Given the description of an element on the screen output the (x, y) to click on. 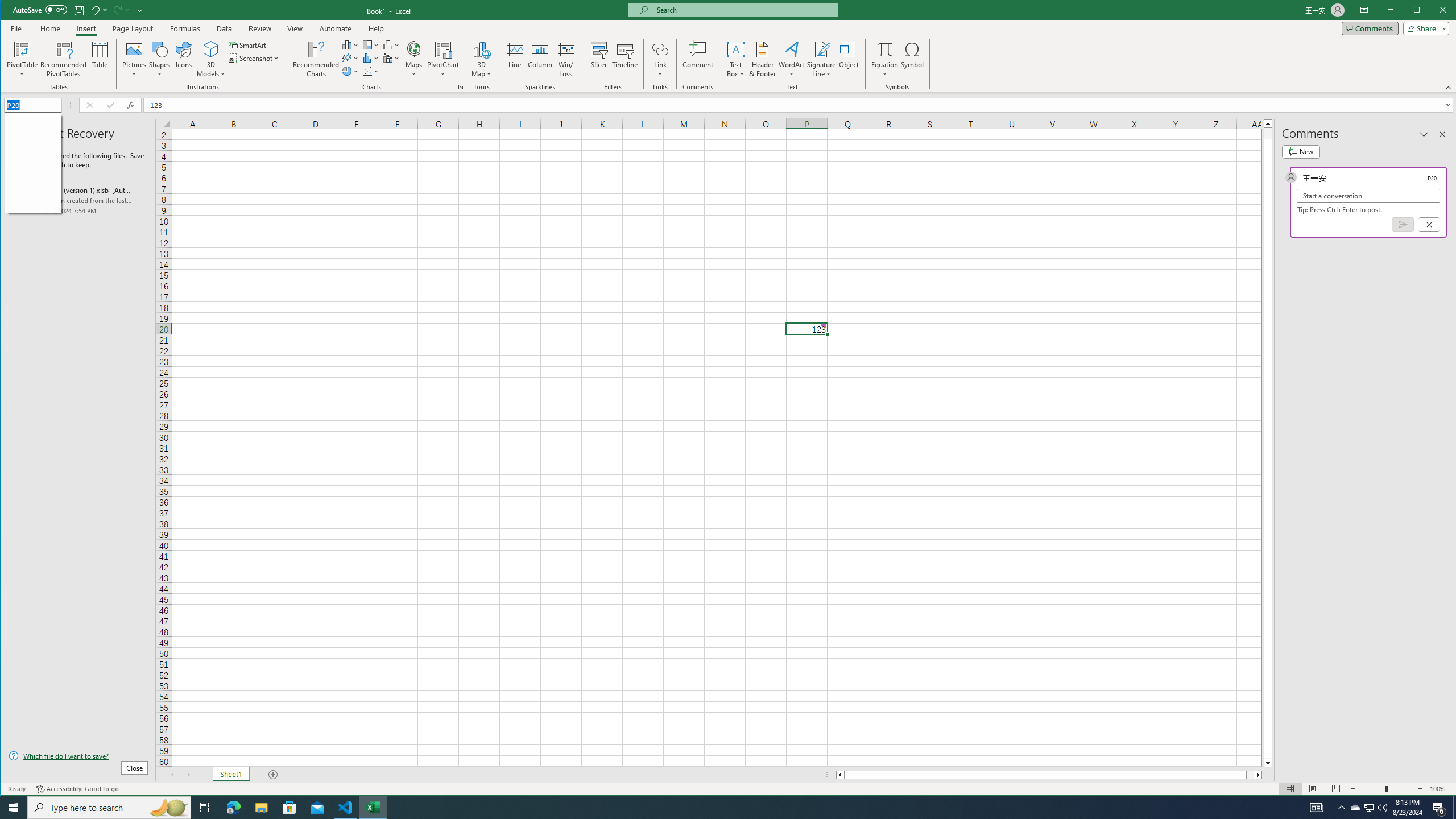
Equation (884, 48)
3D Models (211, 59)
Insert Waterfall, Funnel, Stock, Surface, or Radar Chart (391, 44)
Microsoft Edge (1355, 807)
Action Center, 6 new notifications (233, 807)
Slicer... (1439, 807)
Microsoft Store (598, 59)
Insert Column or Bar Chart (289, 807)
PivotTable (350, 44)
